Given the description of an element on the screen output the (x, y) to click on. 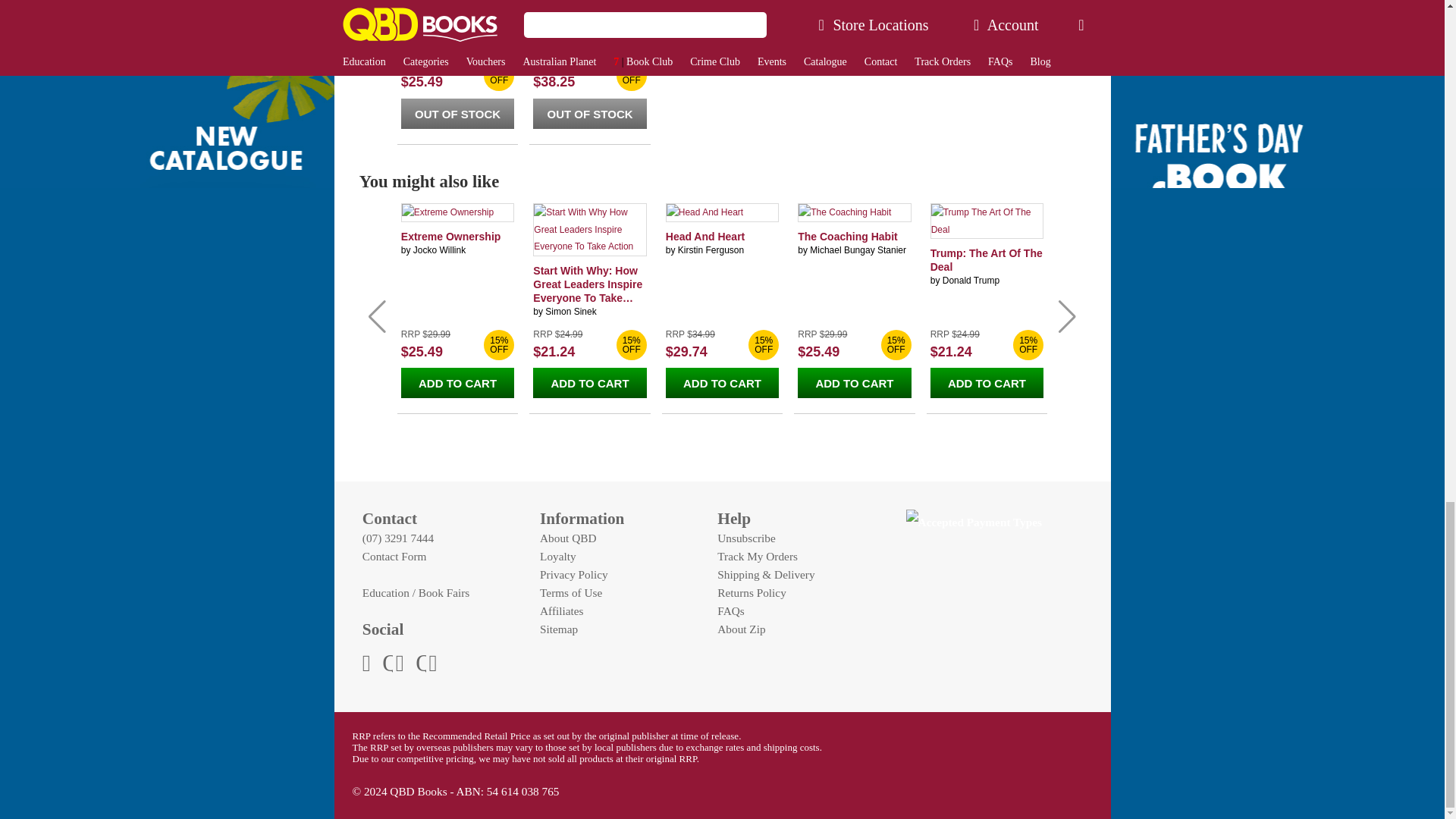
The Excellence Dividend (571, 21)
Tom Peters (436, 41)
Tom Peters (567, 41)
Simon Sinek (569, 311)
The Excellence Dividend (439, 21)
Extreme Ownership (450, 236)
Jocko Willink (439, 249)
